Given the description of an element on the screen output the (x, y) to click on. 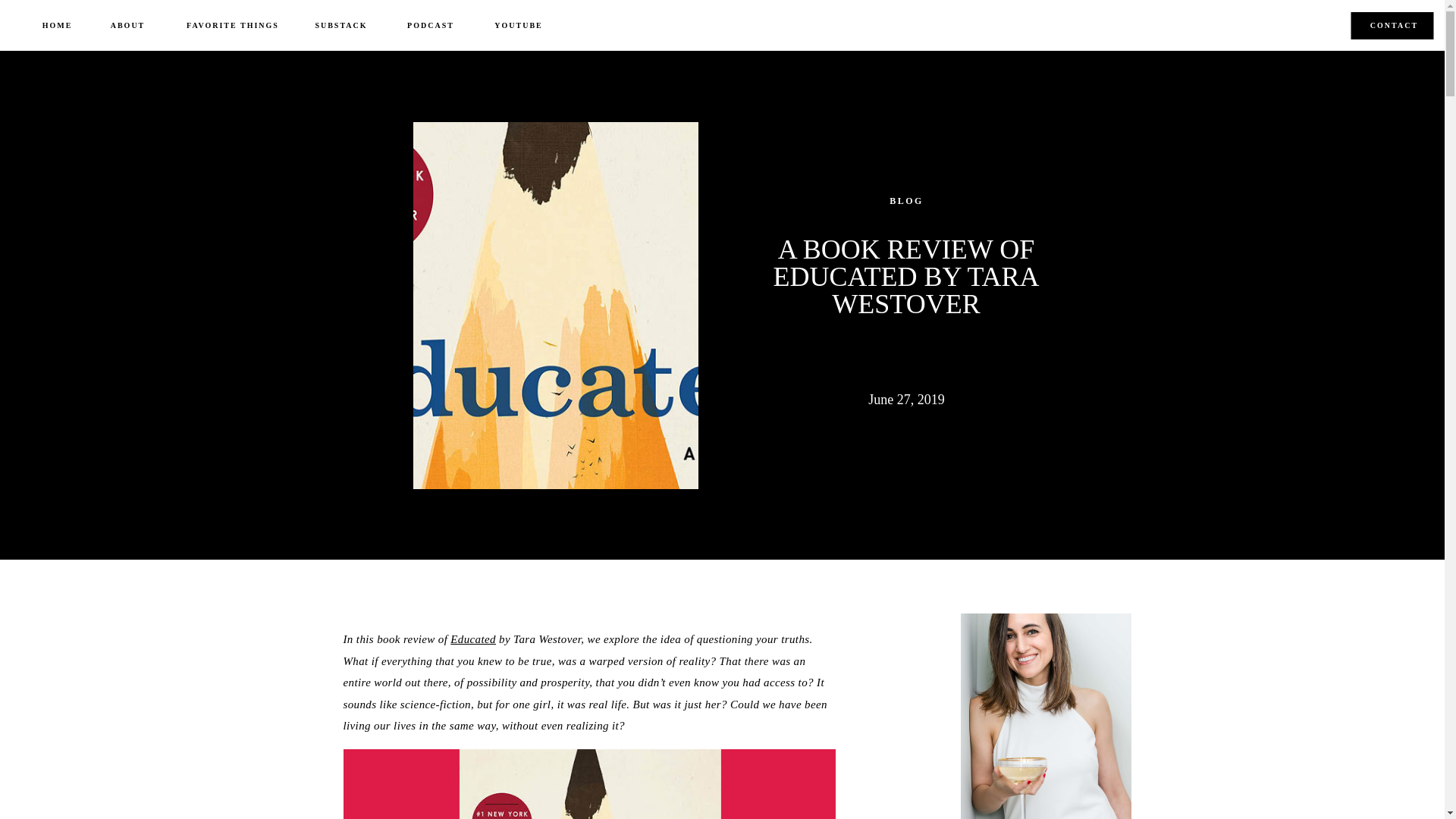
YOUTUBE (518, 25)
HOME (57, 25)
FAVORITE THINGS (232, 25)
SUBSTACK (341, 25)
PODCAST (430, 25)
ABOUT (128, 25)
CONTACT (1394, 27)
Educated (472, 639)
BLOG (906, 200)
